Given the description of an element on the screen output the (x, y) to click on. 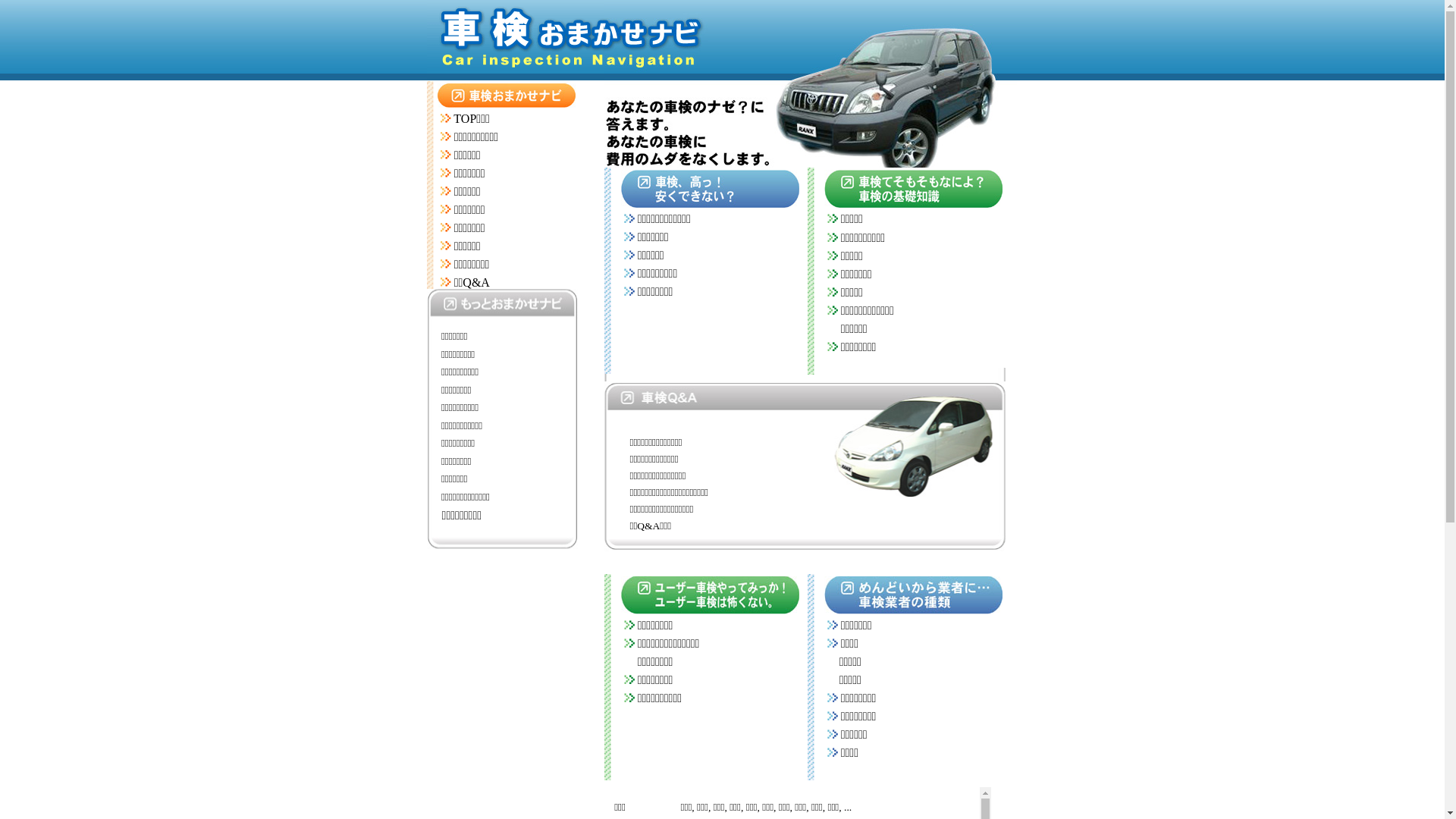
... Element type: text (847, 806)
